Given the description of an element on the screen output the (x, y) to click on. 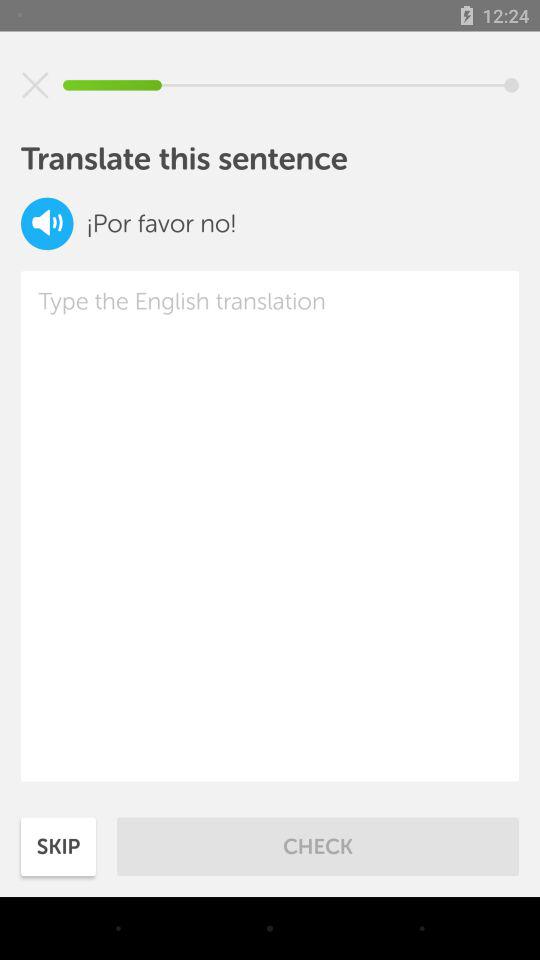
press skip at the bottom left corner (58, 846)
